Given the description of an element on the screen output the (x, y) to click on. 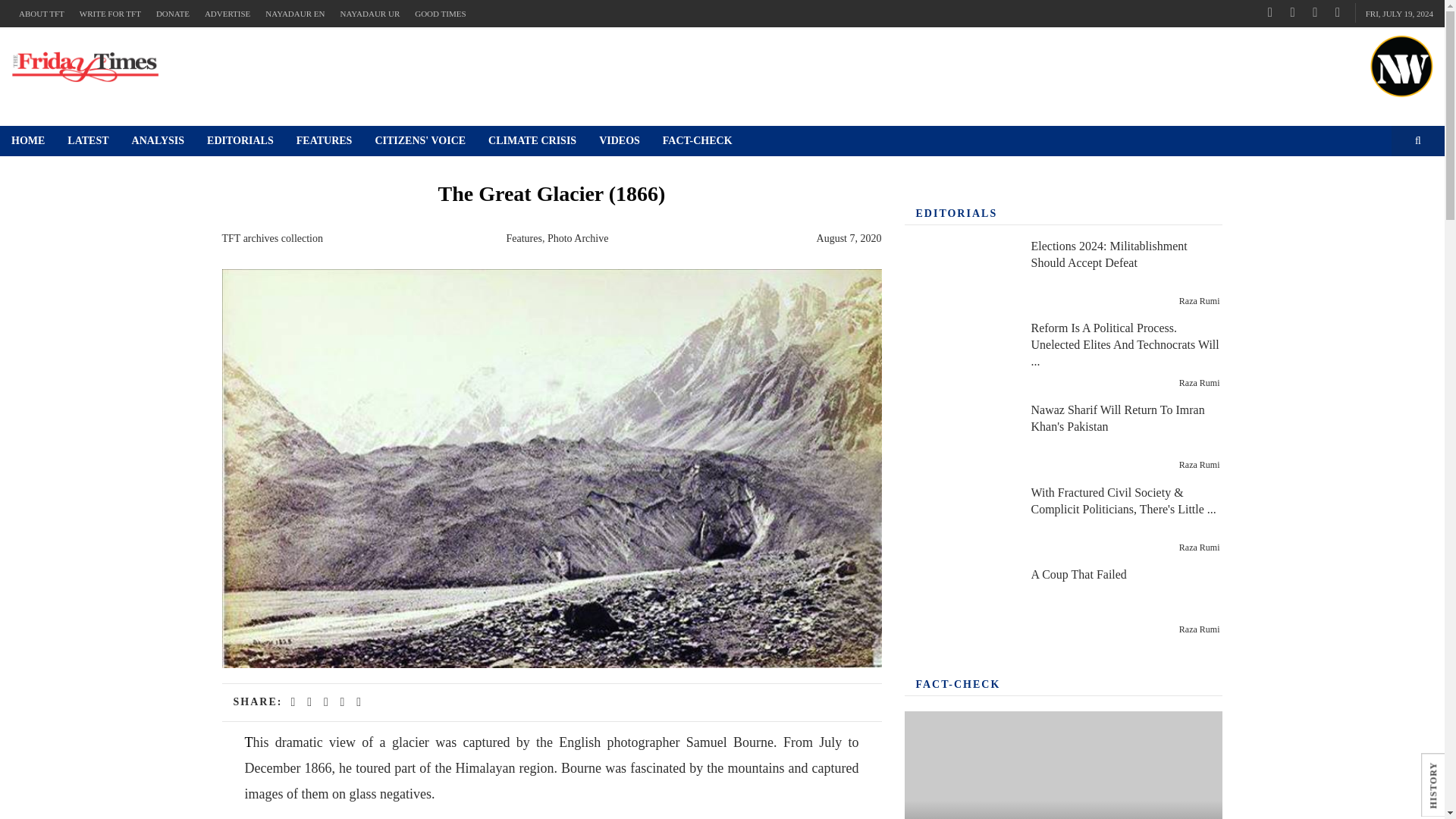
TFT archives collection (271, 238)
A Coup That Failed (959, 601)
FEATURES (324, 141)
Fact Check: Will Govt Shutdown Social Media Apps on Ashura? (1063, 765)
Nawaz Sharif Will Return To Imran Khan's Pakistan (959, 437)
EDITORIALS (240, 141)
ADVERTISE (226, 13)
ABOUT TFT (41, 13)
WRITE FOR TFT (109, 13)
DONATE (172, 13)
HOME (28, 141)
ANALYSIS (158, 141)
NAYADAUR EN (294, 13)
